Given the description of an element on the screen output the (x, y) to click on. 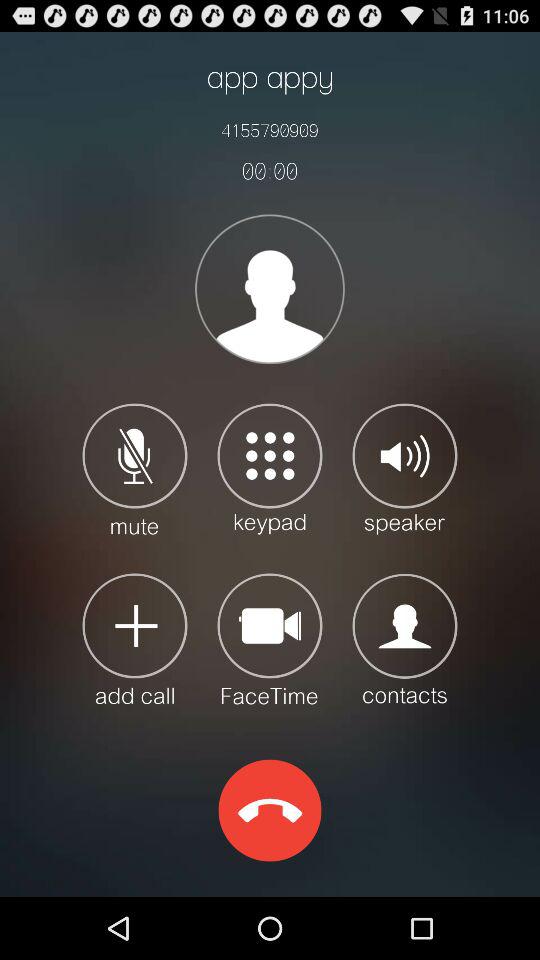
mute option for stop hearing the other end user (134, 468)
